Given the description of an element on the screen output the (x, y) to click on. 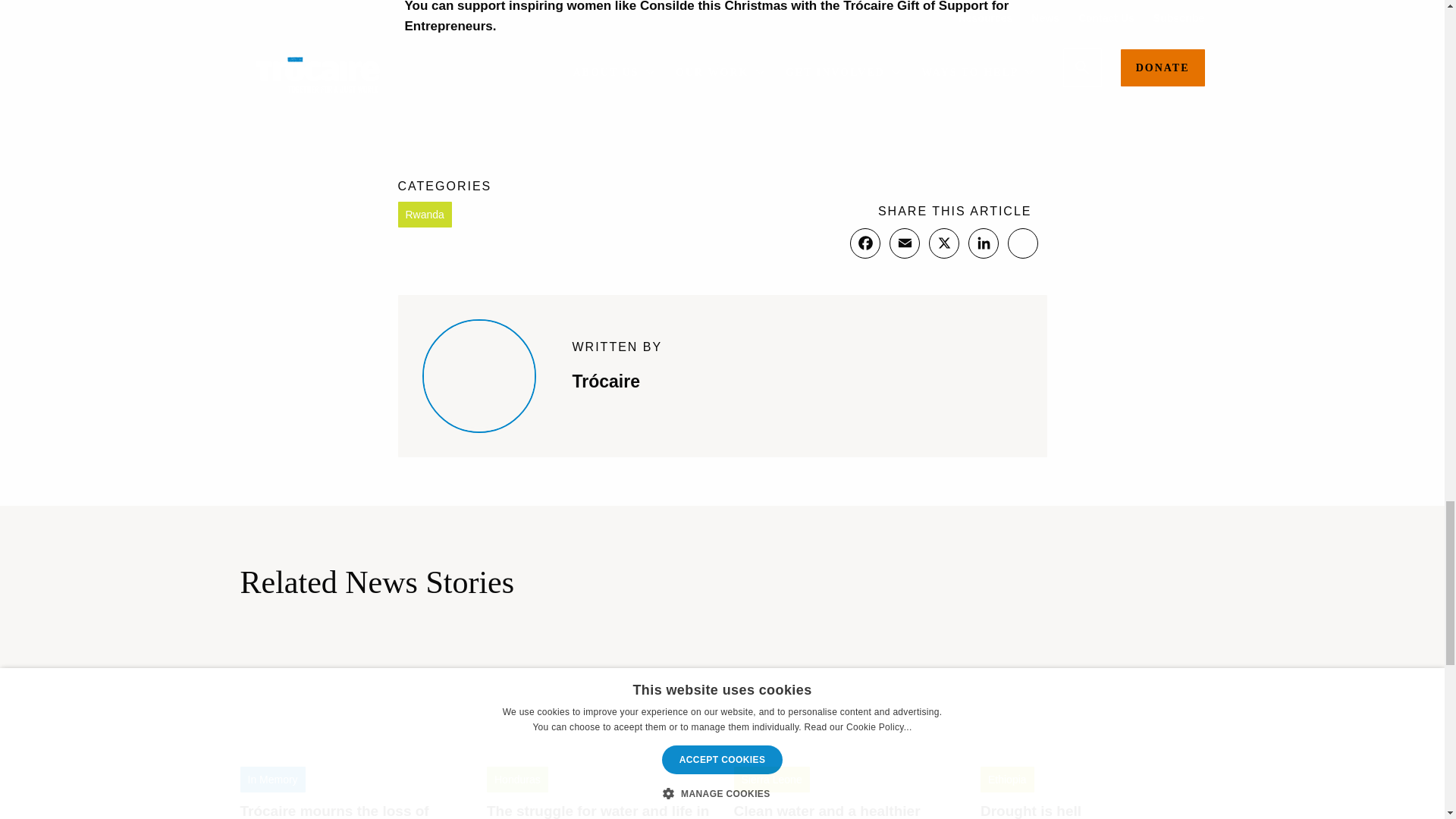
Instagram (1021, 243)
X (943, 243)
Facebook (863, 243)
LinkedIn (982, 243)
Email (903, 243)
